Given the description of an element on the screen output the (x, y) to click on. 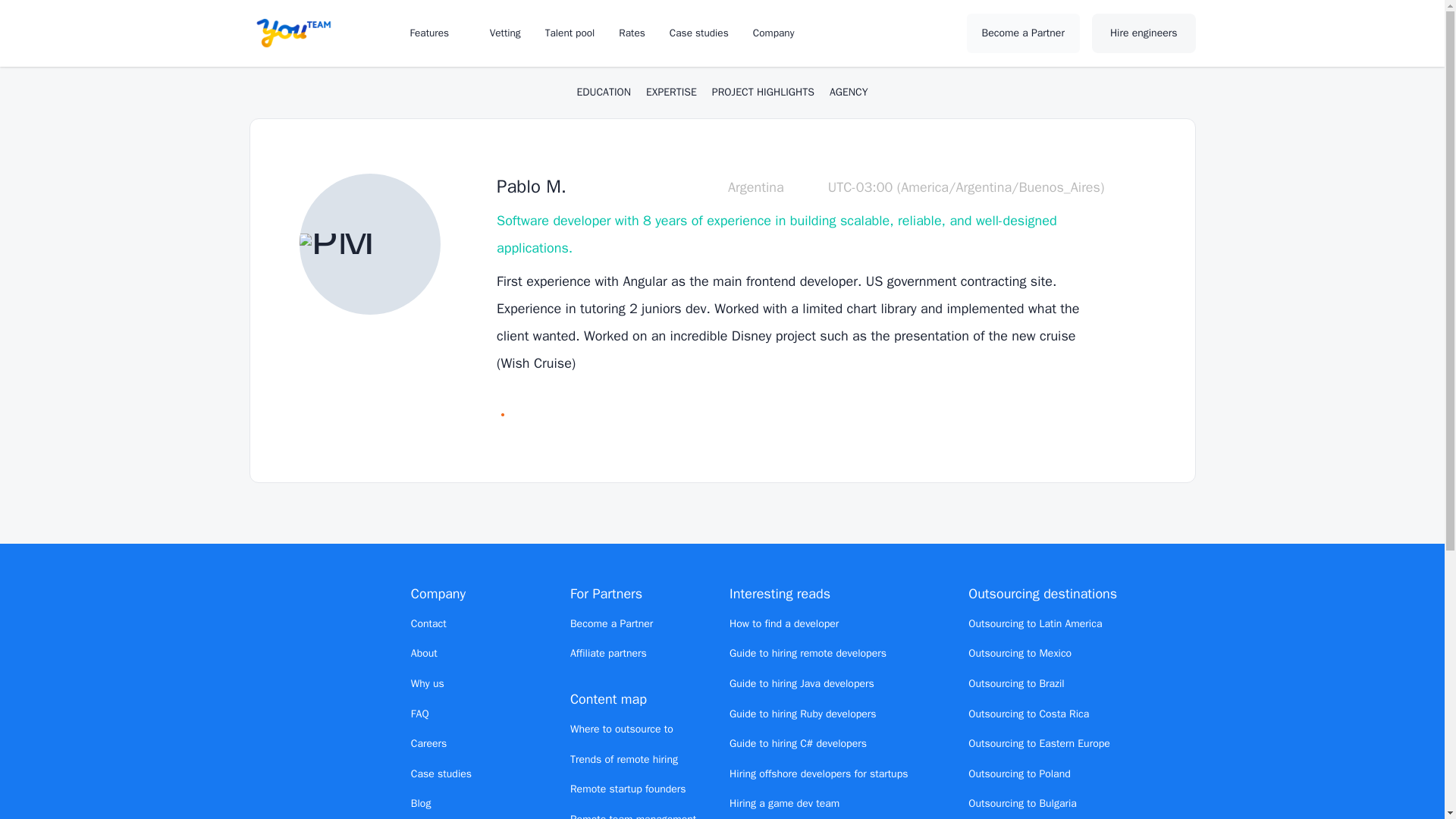
Agency (848, 92)
Vetting (505, 32)
Expertise (671, 92)
Guide to hiring Java developers (802, 683)
Affiliate partners (608, 653)
Case studies (699, 32)
Remote team management (632, 816)
Careers (428, 743)
Guide to hiring remote developers (807, 653)
About (424, 653)
Remote startup founders (627, 788)
Become a Partner (1023, 32)
Features (436, 32)
Hire engineers (1143, 33)
AGENCY (848, 92)
